Given the description of an element on the screen output the (x, y) to click on. 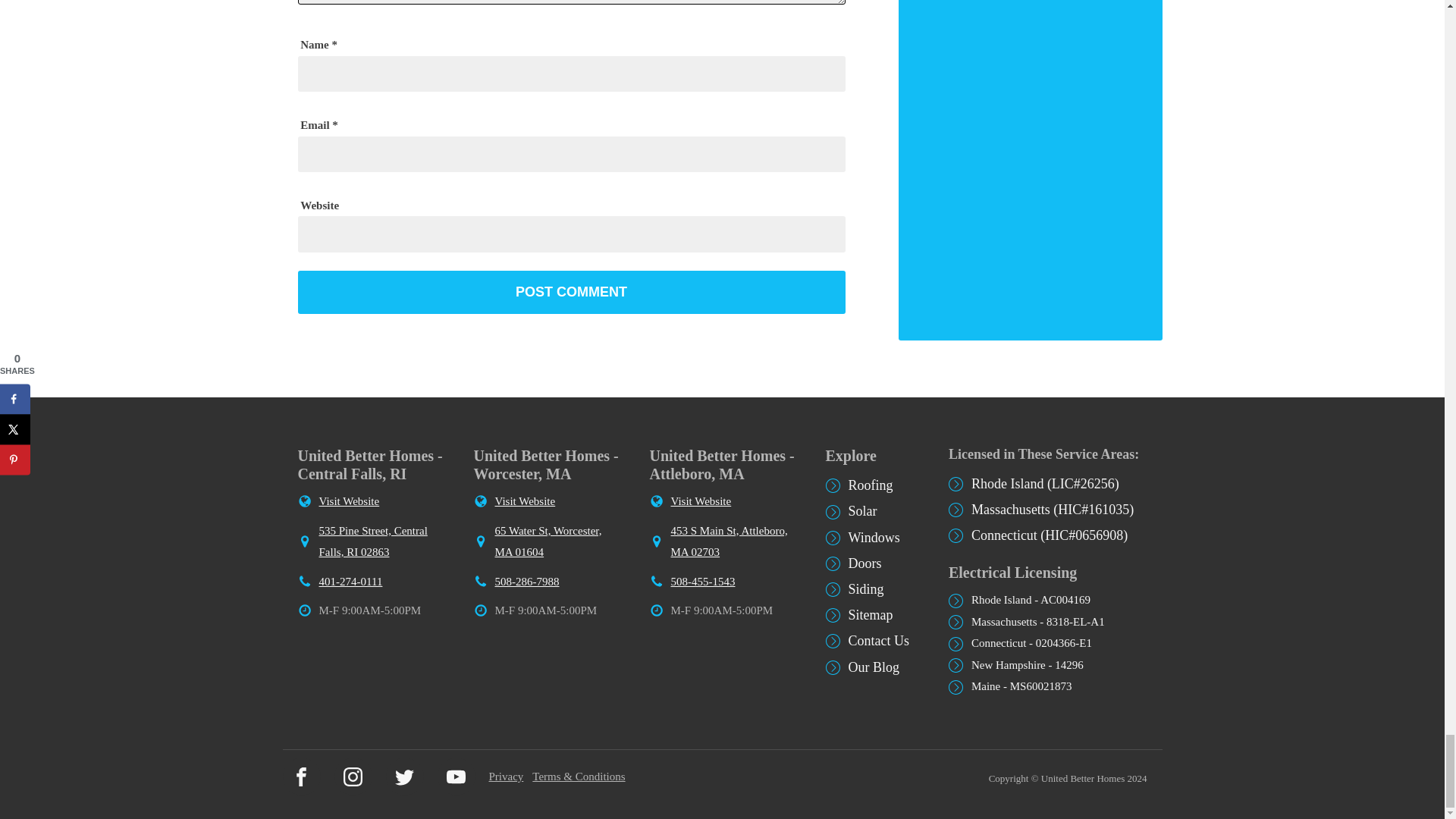
Post Comment (570, 292)
